Given the description of an element on the screen output the (x, y) to click on. 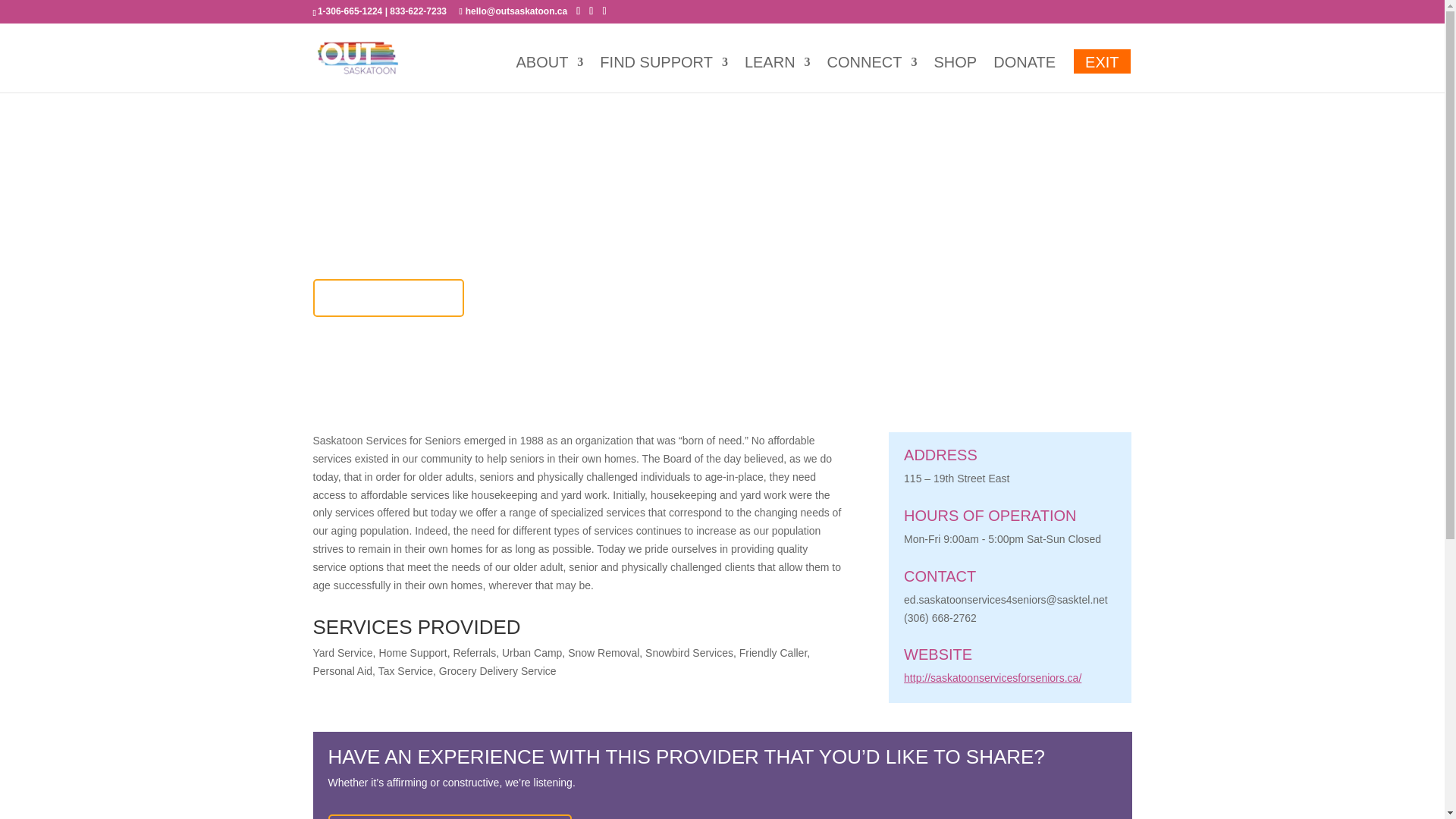
FIND SUPPORT (663, 74)
LEARN (777, 74)
ABOUT (549, 74)
